Given the description of an element on the screen output the (x, y) to click on. 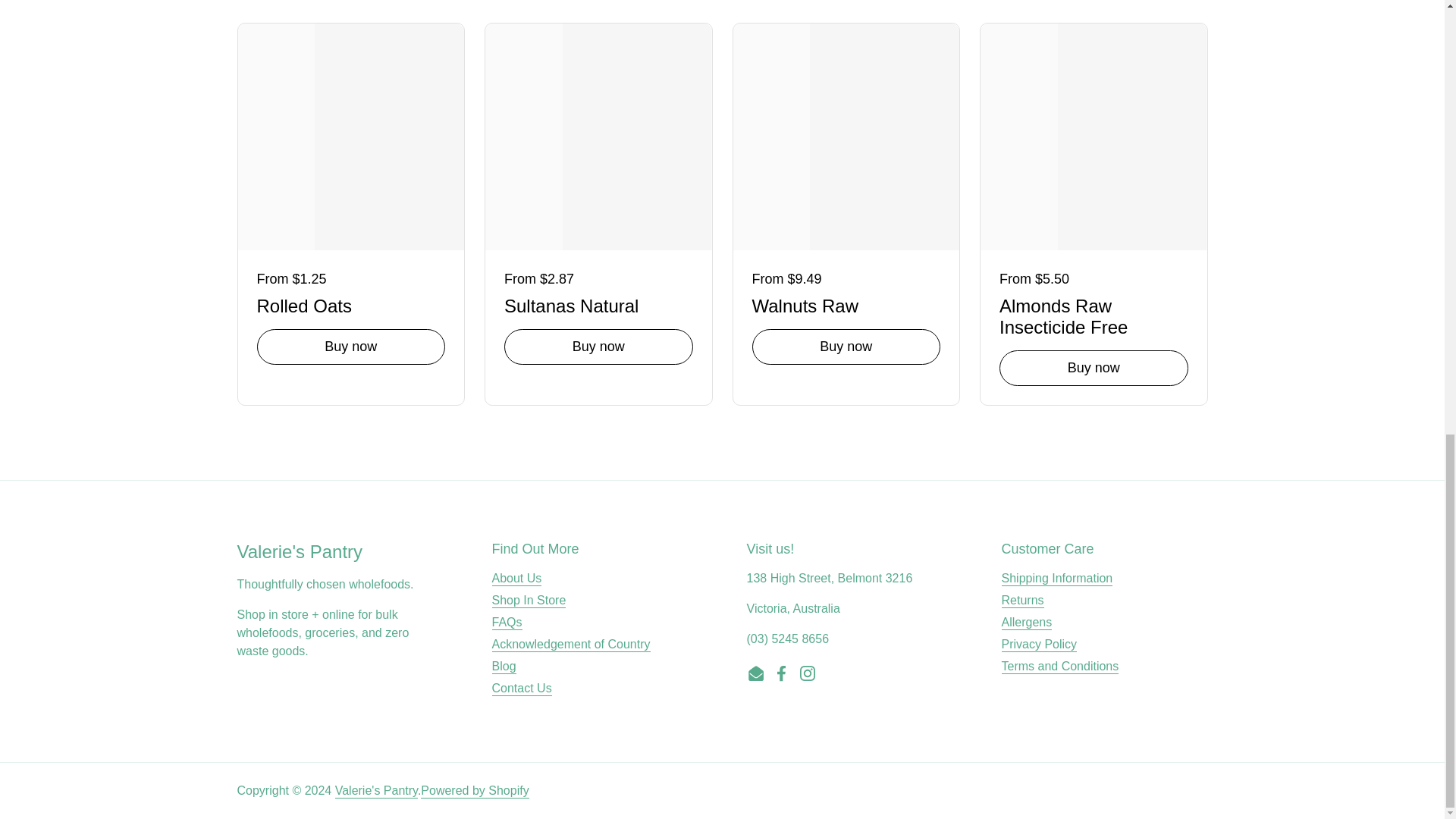
Rolled Oats (350, 303)
Sultanas Natural (598, 303)
Almonds Raw Insecticide Free (1093, 314)
Walnuts Raw (846, 303)
